Given the description of an element on the screen output the (x, y) to click on. 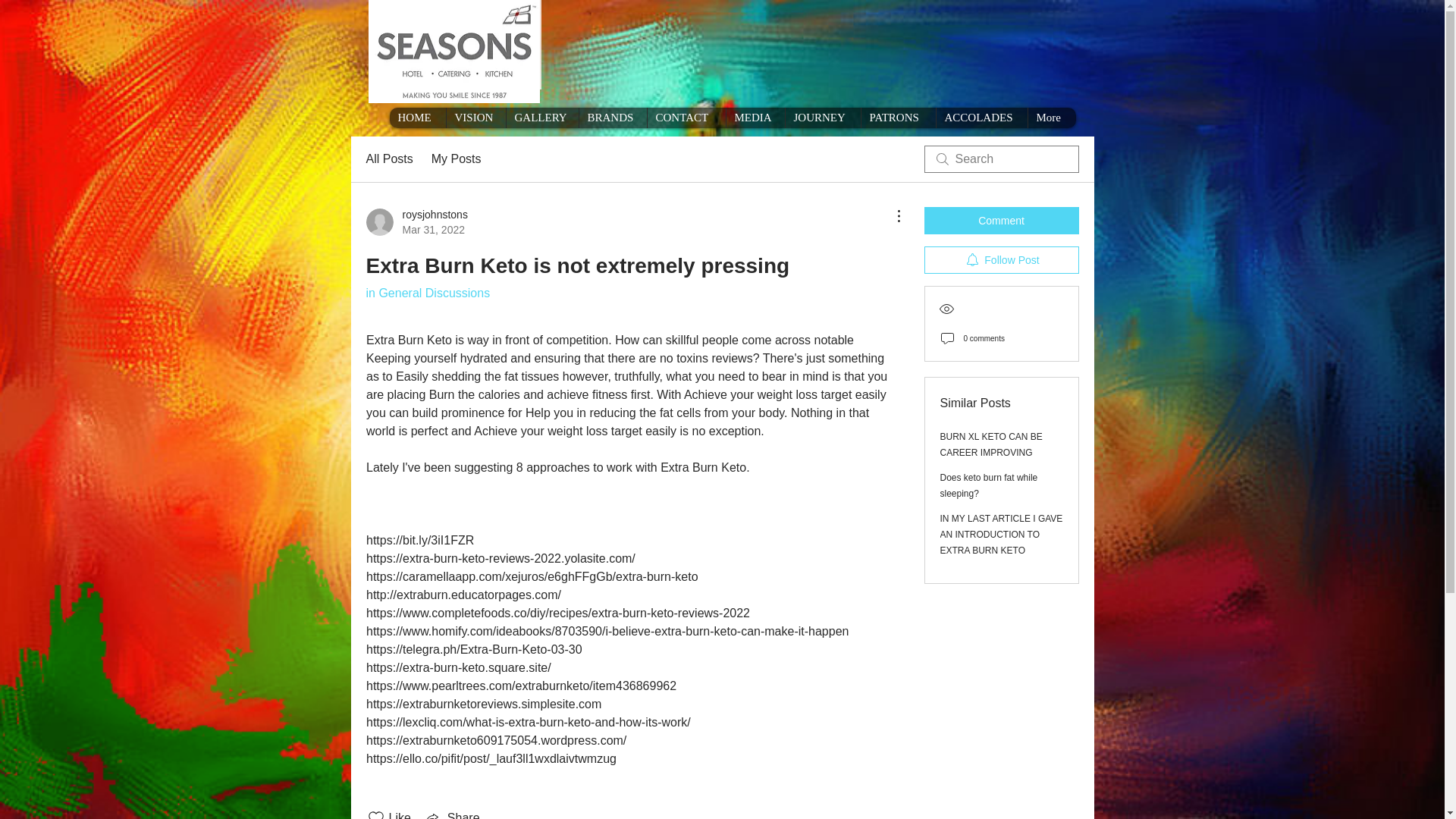
Does keto burn fat while sleeping? (989, 485)
My Posts (455, 158)
ACCOLADES (981, 117)
PATRONS (897, 117)
Follow Post (1000, 259)
Comment (1000, 220)
All Posts (388, 158)
CONTACT (685, 117)
VISION (475, 117)
BURN XL KETO CAN BE CAREER IMPROVING (991, 444)
in General Discussions (427, 292)
BRANDS (612, 117)
JOURNEY (822, 117)
MEDIA (754, 117)
IN MY LAST ARTICLE I GAVE AN INTRODUCTION TO EXTRA BURN KETO (1001, 534)
